Given the description of an element on the screen output the (x, y) to click on. 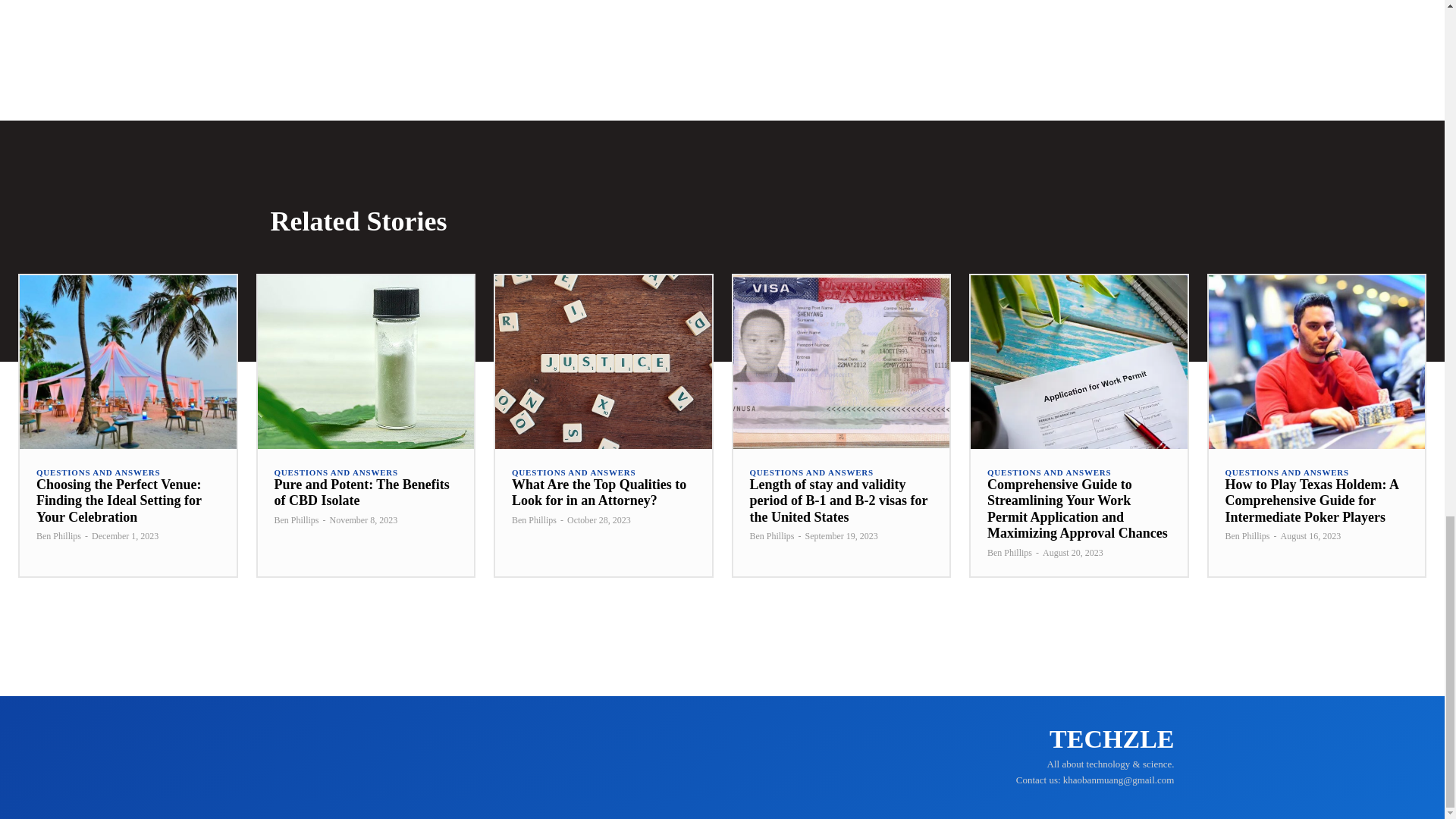
Pure and Potent: The Benefits of CBD Isolate (362, 492)
What Are the Top Qualities to Look for in an Attorney? (603, 361)
Pure and Potent: The Benefits of CBD Isolate (365, 361)
What Are the Top Qualities to Look for in an Attorney? (598, 492)
